Given the description of an element on the screen output the (x, y) to click on. 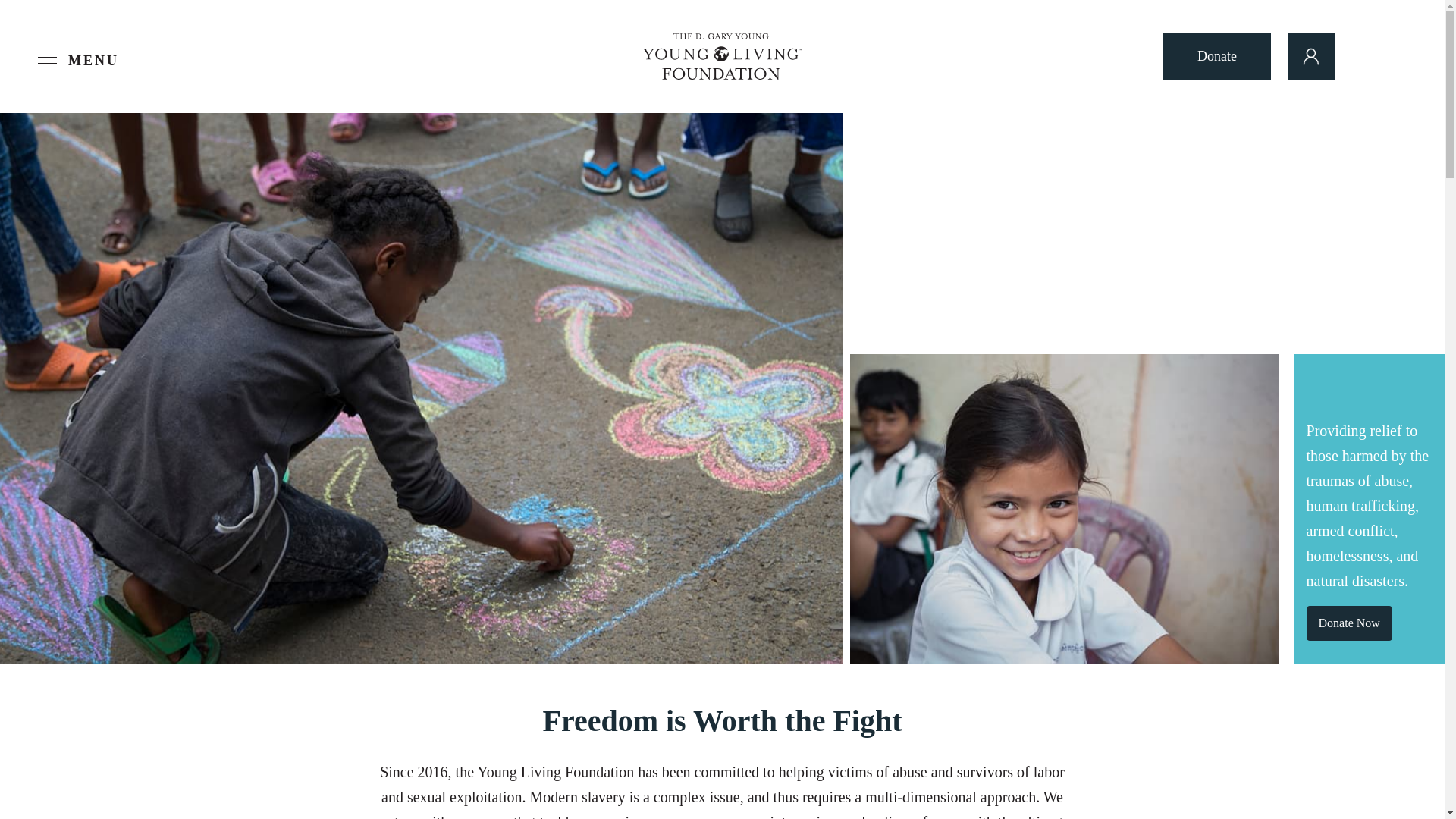
MENU (93, 60)
Donate (1217, 56)
